Given the description of an element on the screen output the (x, y) to click on. 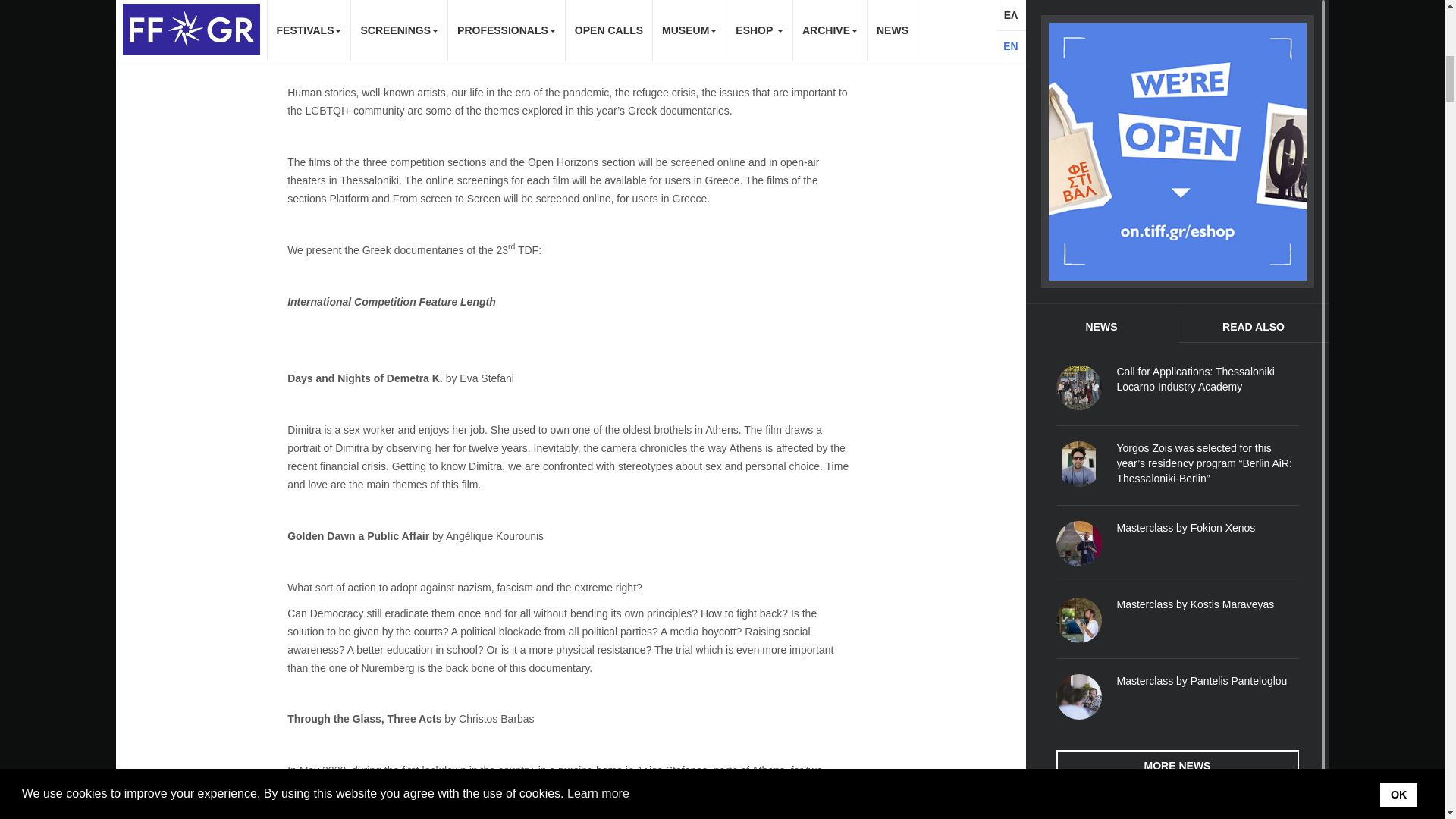
Back to Top (1409, 25)
